Given the description of an element on the screen output the (x, y) to click on. 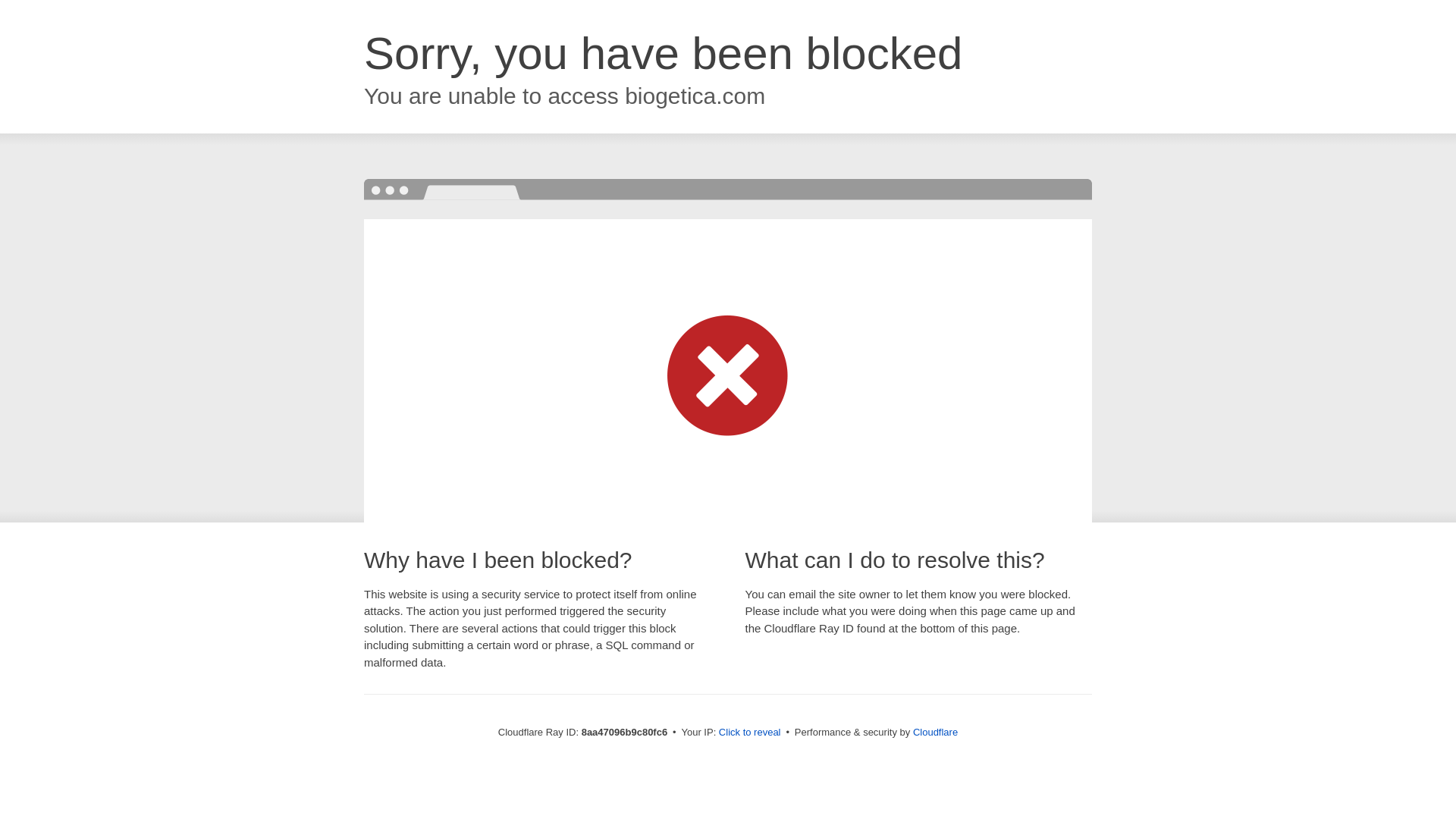
Click to reveal (749, 732)
Cloudflare (935, 731)
